Given the description of an element on the screen output the (x, y) to click on. 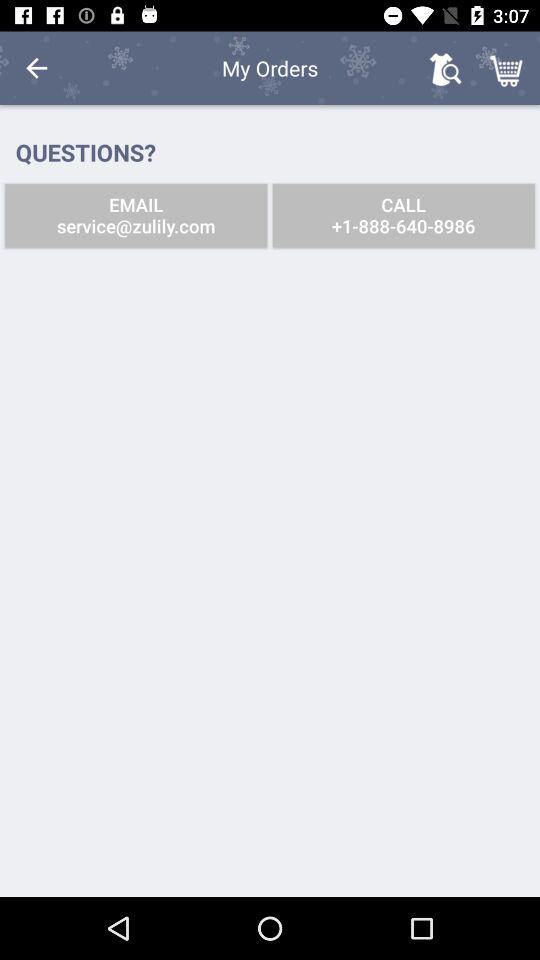
launch the icon above the call 1 888 (444, 67)
